Given the description of an element on the screen output the (x, y) to click on. 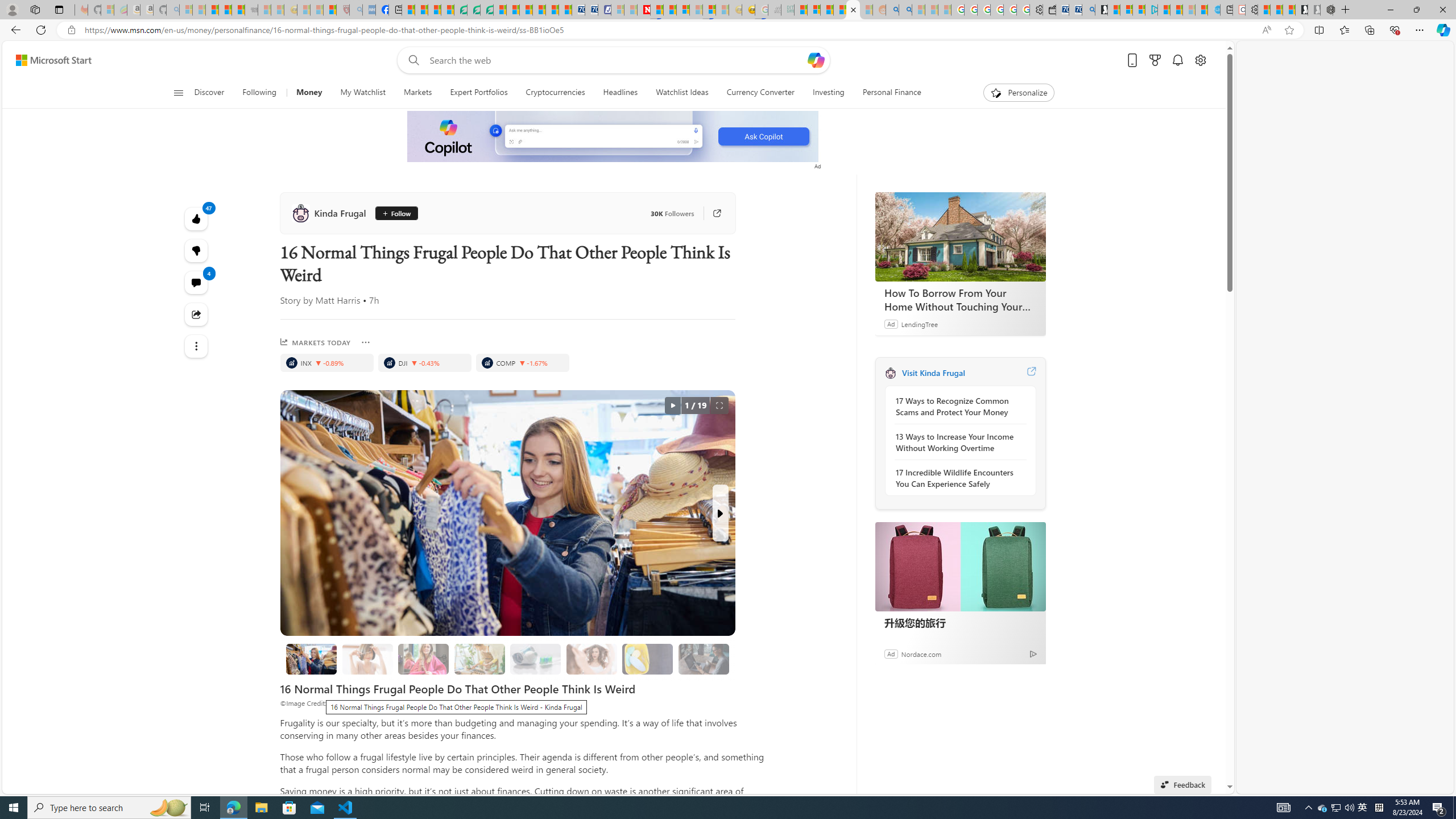
Notifications (1177, 60)
Cheap Car Rentals - Save70.com (1075, 9)
Terms of Use Agreement (473, 9)
2. Donating Hair (423, 659)
Web search (411, 60)
